Given the description of an element on the screen output the (x, y) to click on. 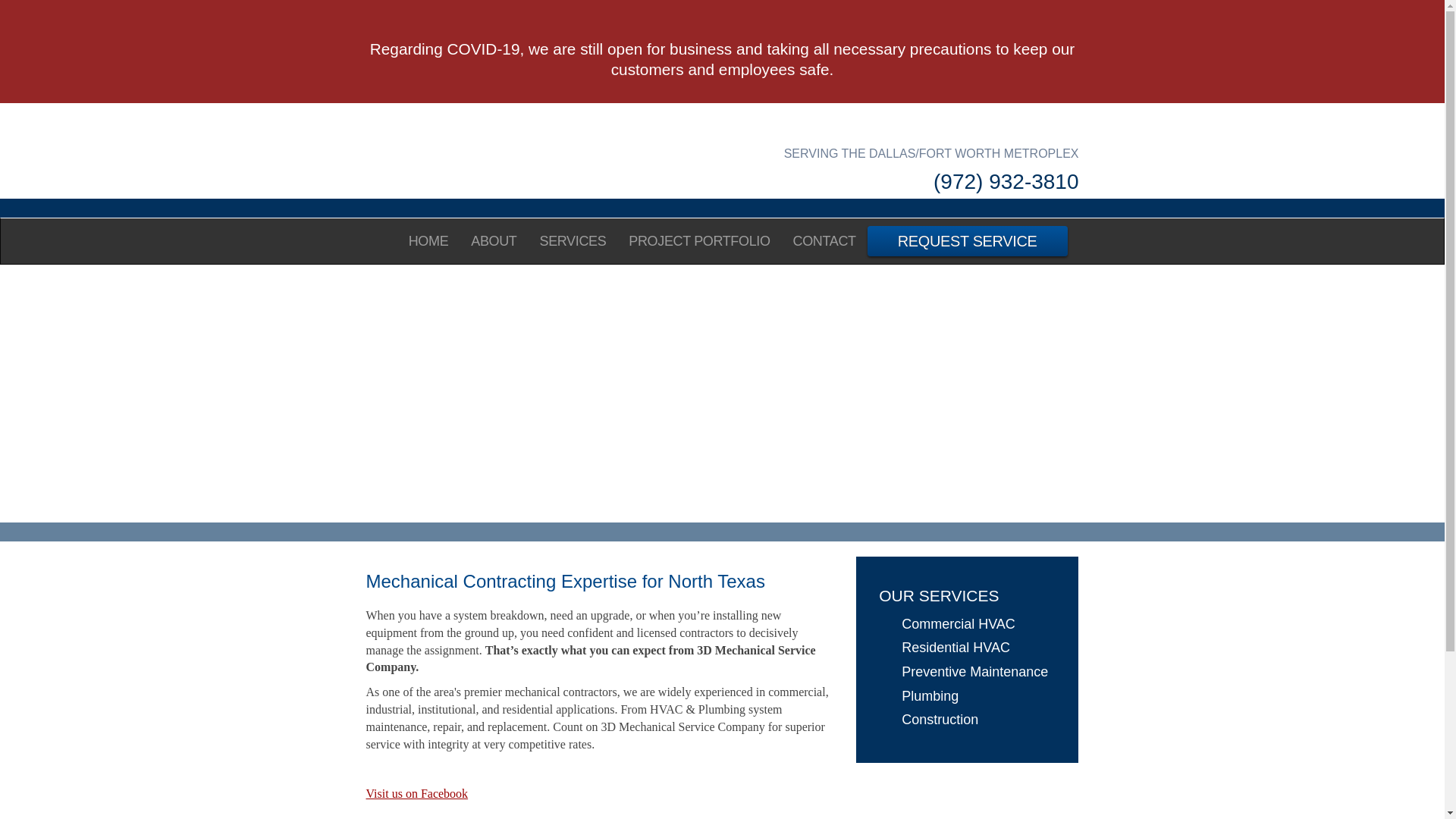
ABOUT Element type: text (493, 240)
3D Mechanical/Service Company Element type: text (537, 150)
REQUEST SERVICE Element type: text (967, 240)
PROJECT PORTFOLIO Element type: text (699, 240)
(972) 932-3810 Element type: text (906, 180)
CONTACT Element type: text (824, 240)
SERVICES Element type: text (572, 240)
HOME Element type: text (428, 240)
Visit us on Facebook Element type: text (416, 793)
